Given the description of an element on the screen output the (x, y) to click on. 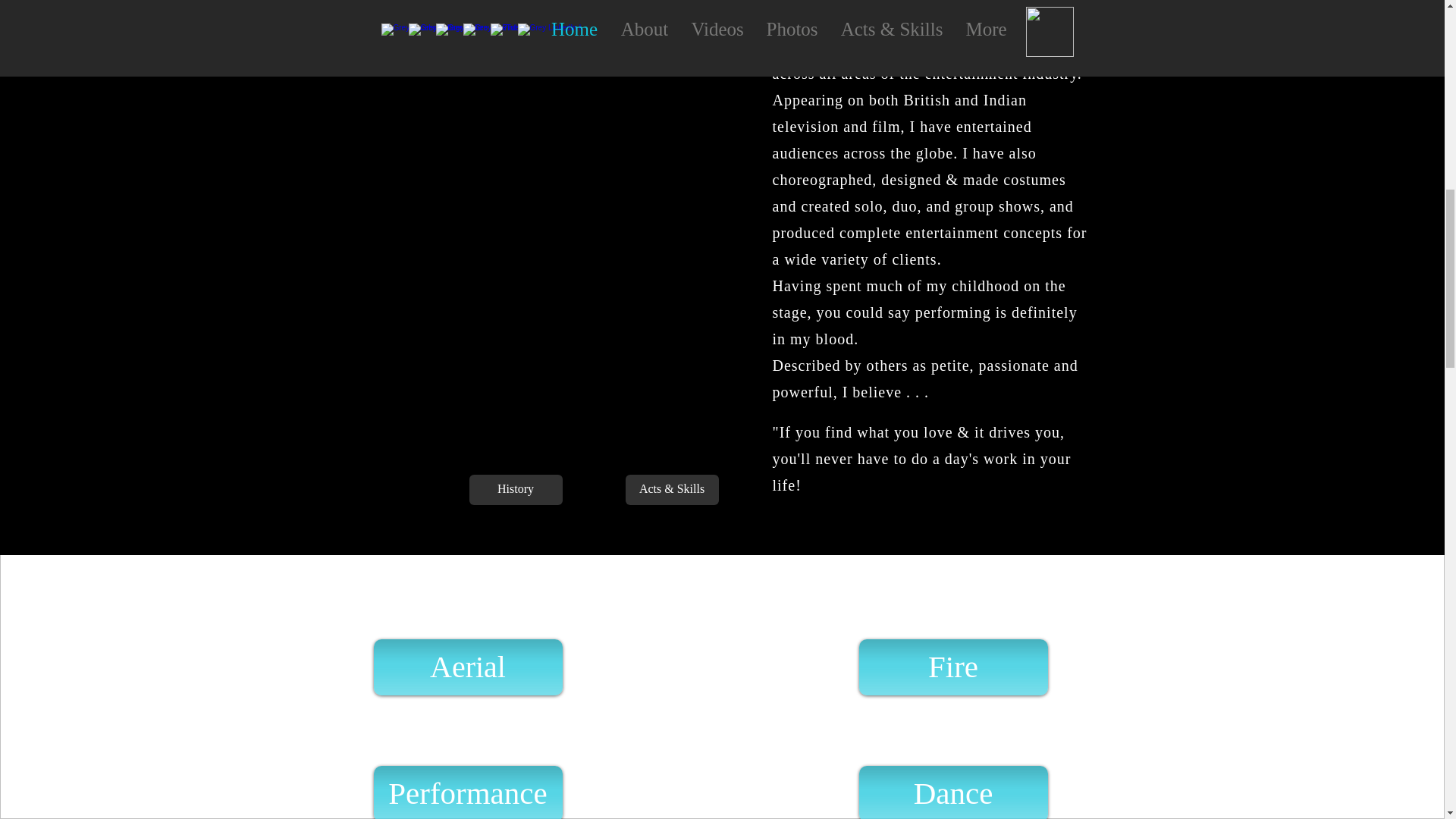
Aerial (467, 666)
Dance (952, 792)
Fire (952, 666)
History (515, 490)
Performance (467, 792)
